Given the description of an element on the screen output the (x, y) to click on. 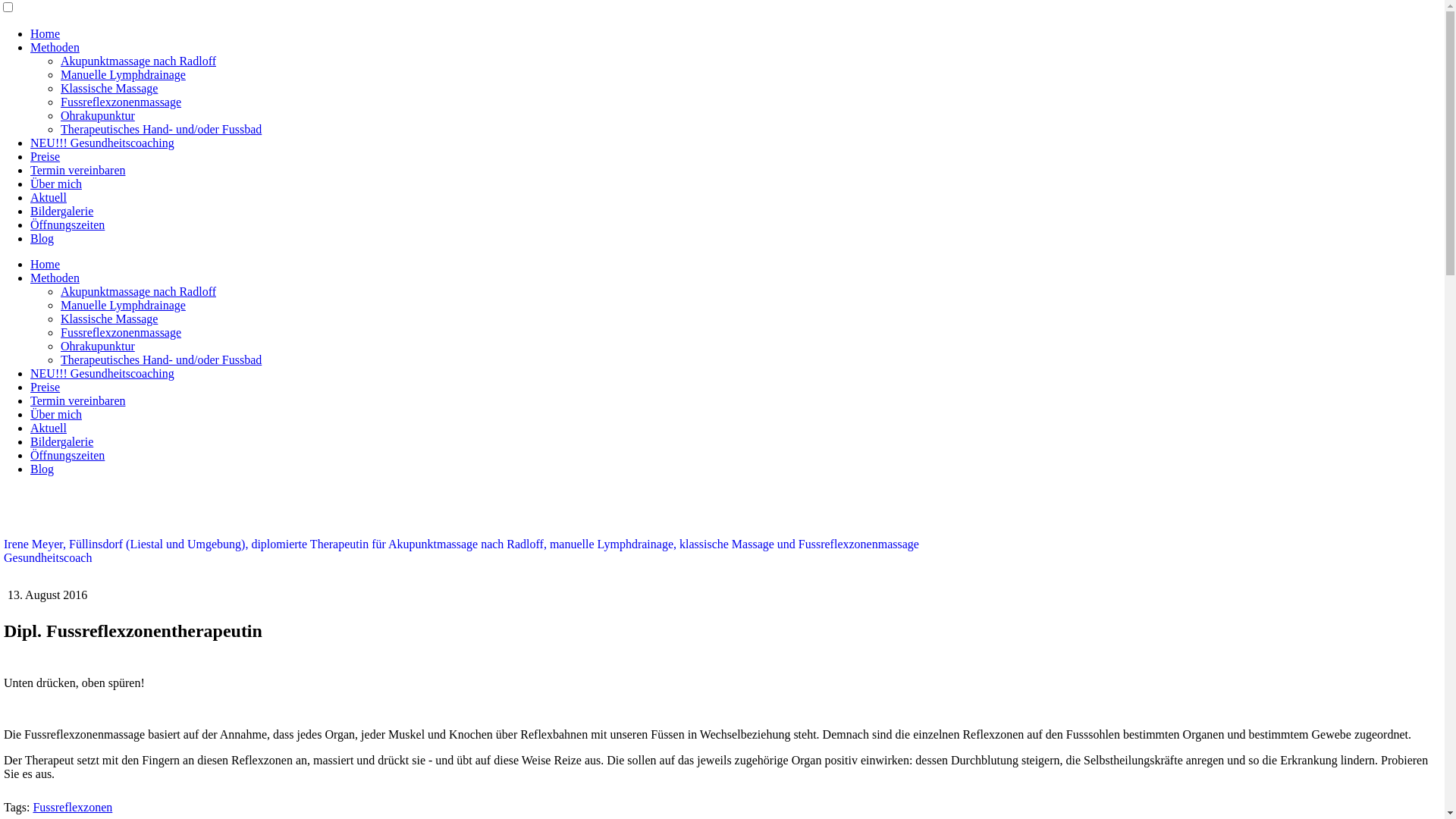
Aktuell Element type: text (48, 197)
Bildergalerie Element type: text (61, 441)
Methoden Element type: text (54, 46)
Therapeutisches Hand- und/oder Fussbad Element type: text (160, 359)
Akupunktmassage nach Radloff Element type: text (138, 291)
Preise Element type: text (44, 386)
Ohrakupunktur Element type: text (97, 345)
Manuelle Lymphdrainage Element type: text (122, 74)
Manuelle Lymphdrainage Element type: text (122, 304)
Termin vereinbaren Element type: text (77, 169)
Fussreflexzonenmassage Element type: text (120, 101)
Termin vereinbaren Element type: text (77, 400)
Blog Element type: text (41, 238)
Home Element type: text (44, 263)
NEU!!! Gesundheitscoaching Element type: text (102, 142)
Home Element type: text (44, 33)
Bildergalerie Element type: text (61, 210)
Fussreflexzonenmassage Element type: text (120, 332)
Klassische Massage Element type: text (108, 318)
Blog Element type: text (41, 468)
Methoden Element type: text (54, 277)
Akupunktmassage nach Radloff Element type: text (138, 60)
Klassische Massage Element type: text (108, 87)
Aktuell Element type: text (48, 427)
Fussreflexzonen Element type: text (72, 806)
Therapeutisches Hand- und/oder Fussbad Element type: text (160, 128)
Preise Element type: text (44, 156)
NEU!!! Gesundheitscoaching Element type: text (102, 373)
Ohrakupunktur Element type: text (97, 115)
